Given the description of an element on the screen output the (x, y) to click on. 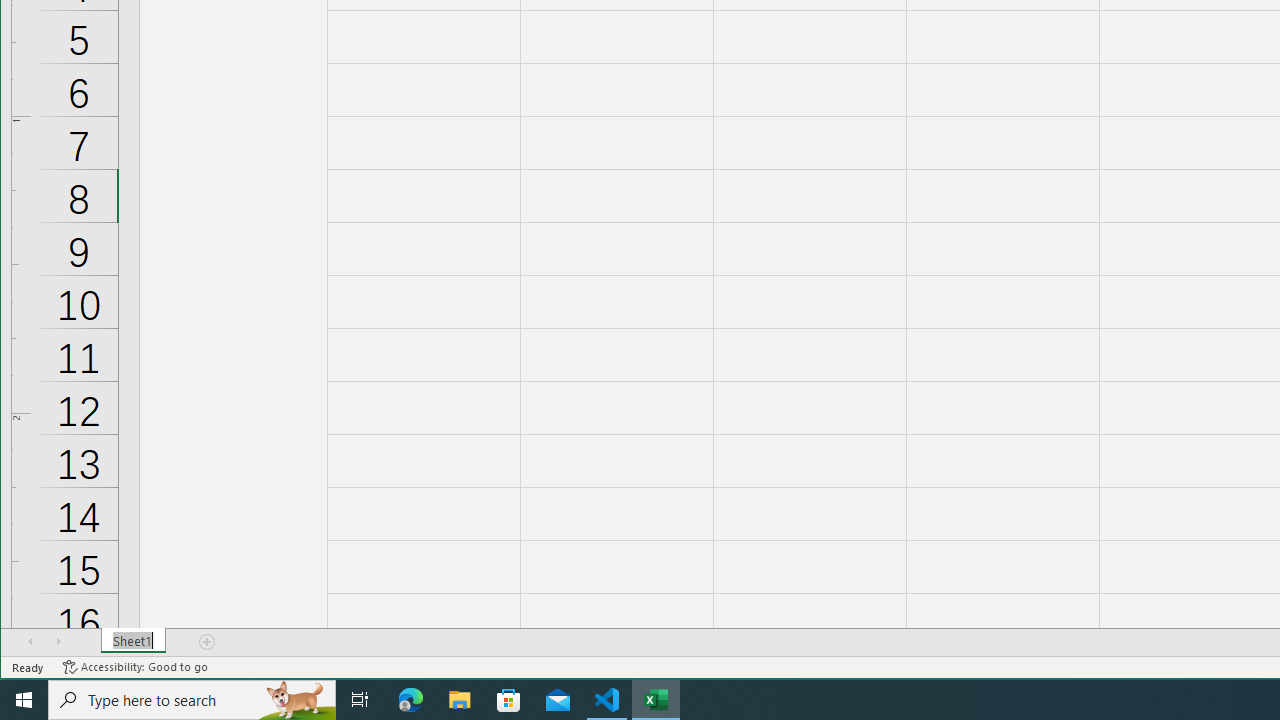
Sheet1 (133, 641)
